Given the description of an element on the screen output the (x, y) to click on. 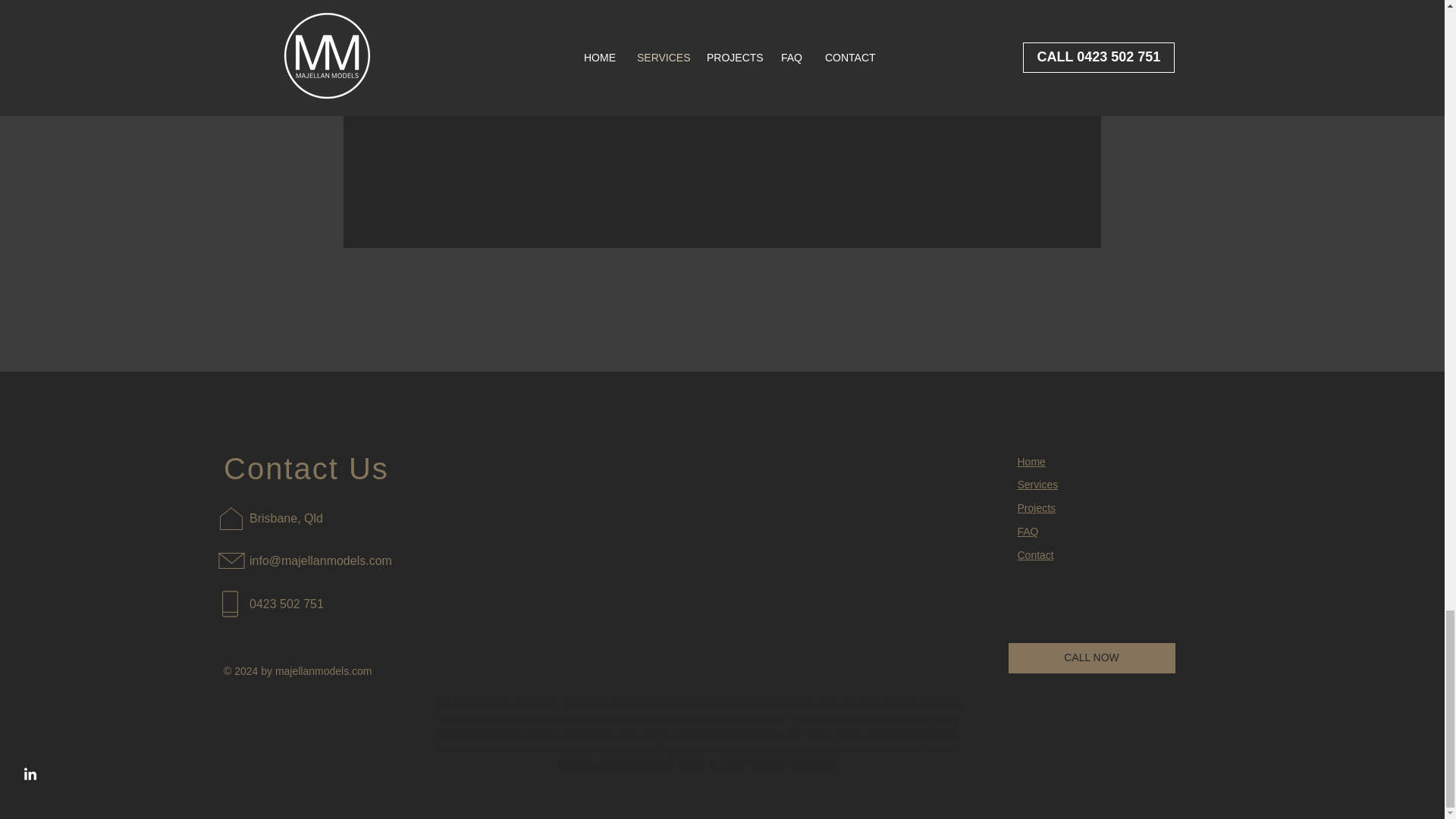
Projects (1037, 508)
FAQ (1028, 531)
Home (1031, 461)
0423 502 751 (285, 603)
Contact (1035, 554)
Services (1037, 484)
Submit (721, 91)
CALL NOW (1091, 657)
